Given the description of an element on the screen output the (x, y) to click on. 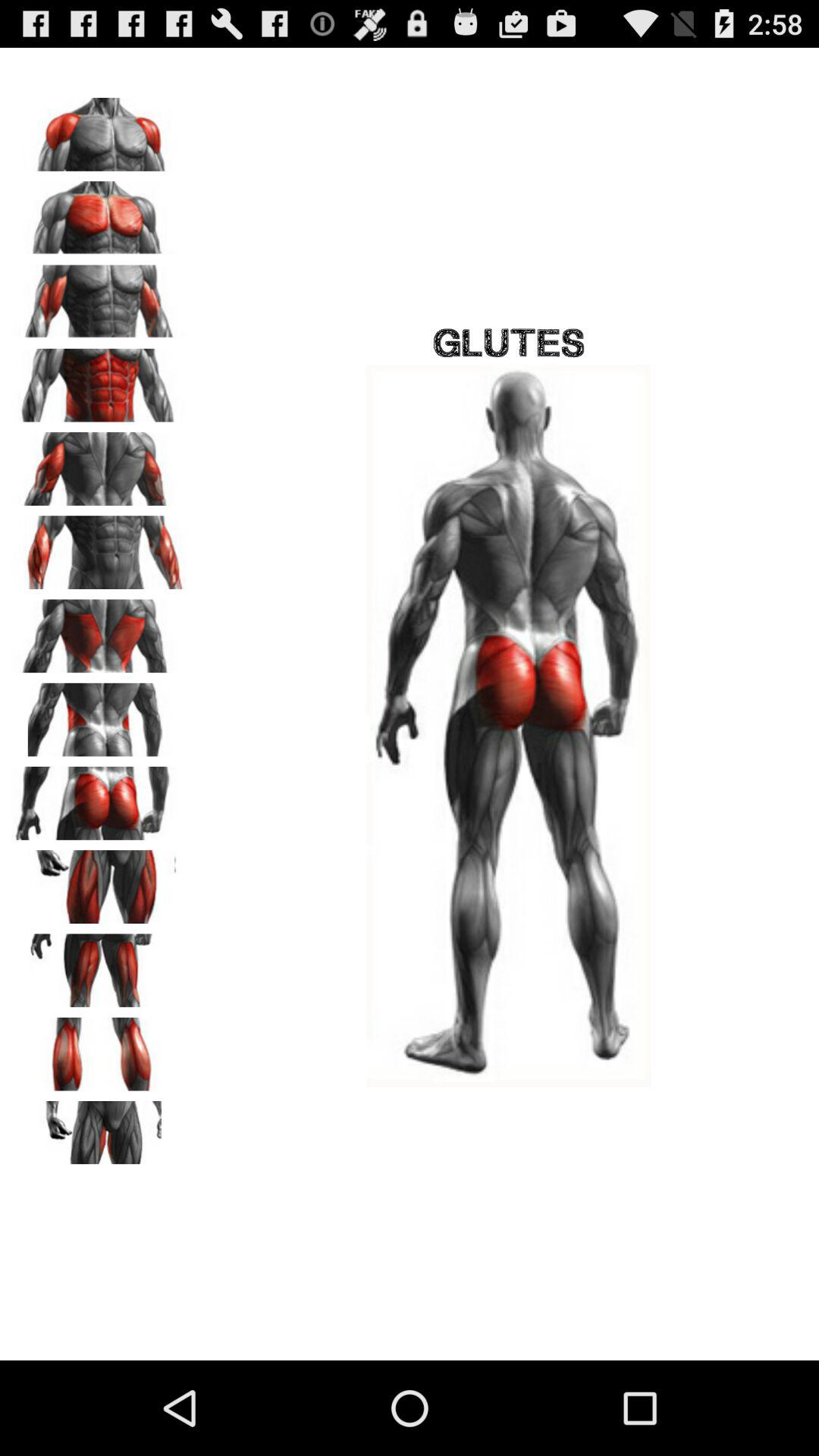
select leg (99, 1048)
